Given the description of an element on the screen output the (x, y) to click on. 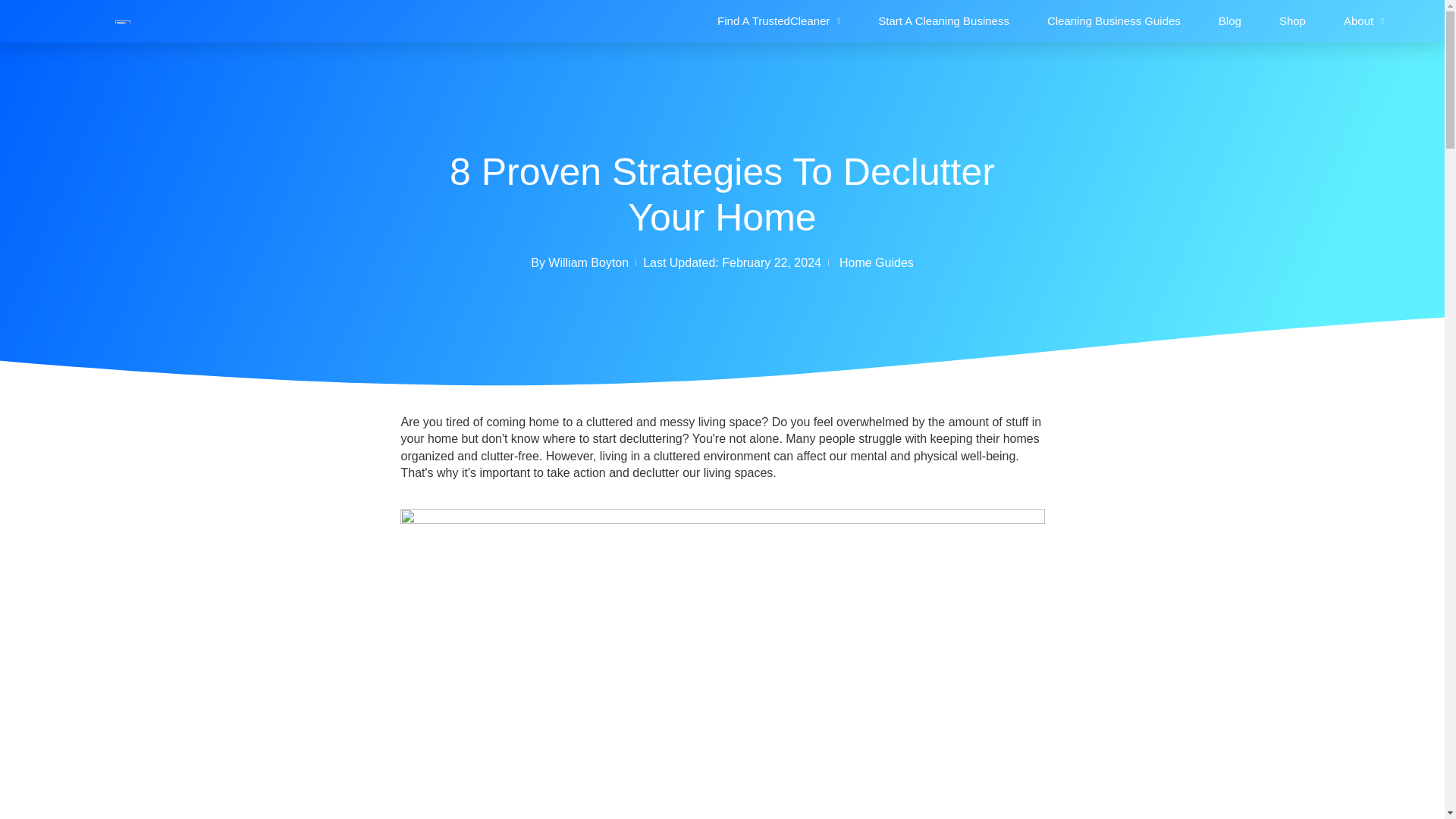
Cleaning Business Guides (1113, 21)
Start A Cleaning Business (943, 21)
Find A TrustedCleaner (778, 21)
About (1363, 21)
